Given the description of an element on the screen output the (x, y) to click on. 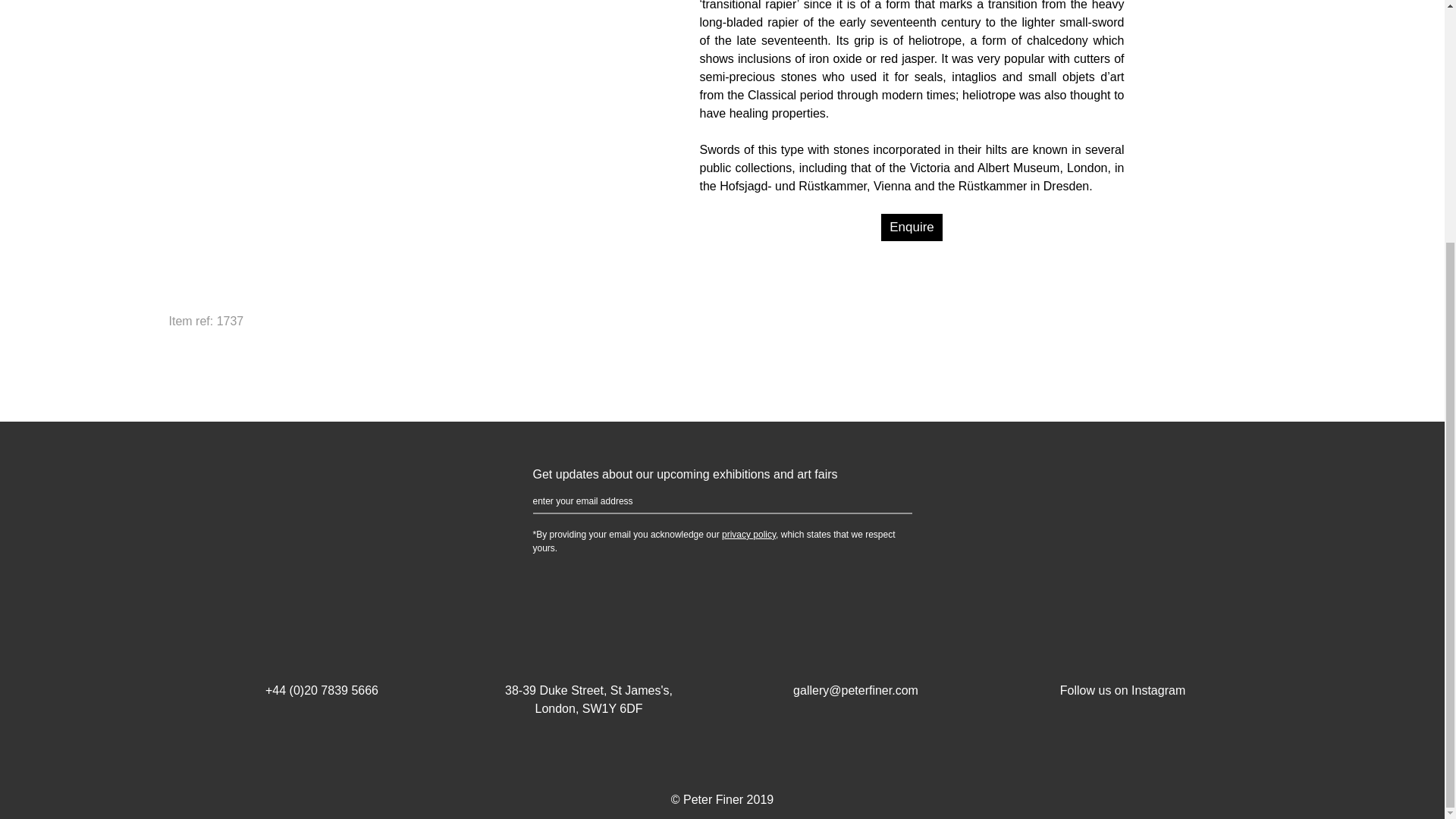
Enquire (911, 226)
Submit (888, 502)
SW1Y 6DF (612, 707)
privacy policy (749, 534)
Submit (888, 502)
Follow us on Instagram (1121, 671)
